Given the description of an element on the screen output the (x, y) to click on. 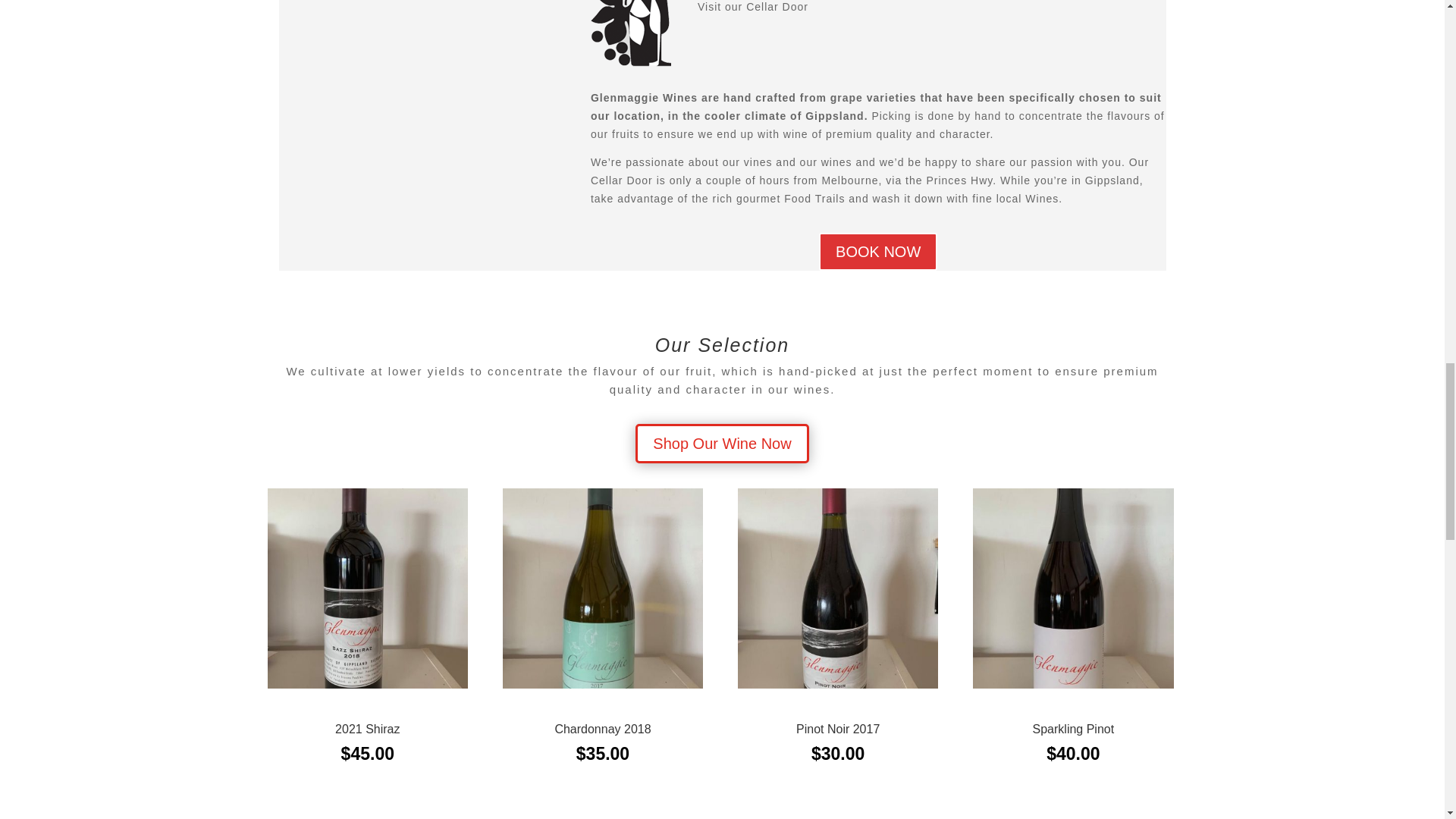
BOOK NOW (877, 251)
Shop Our Wine Now (721, 442)
